Given the description of an element on the screen output the (x, y) to click on. 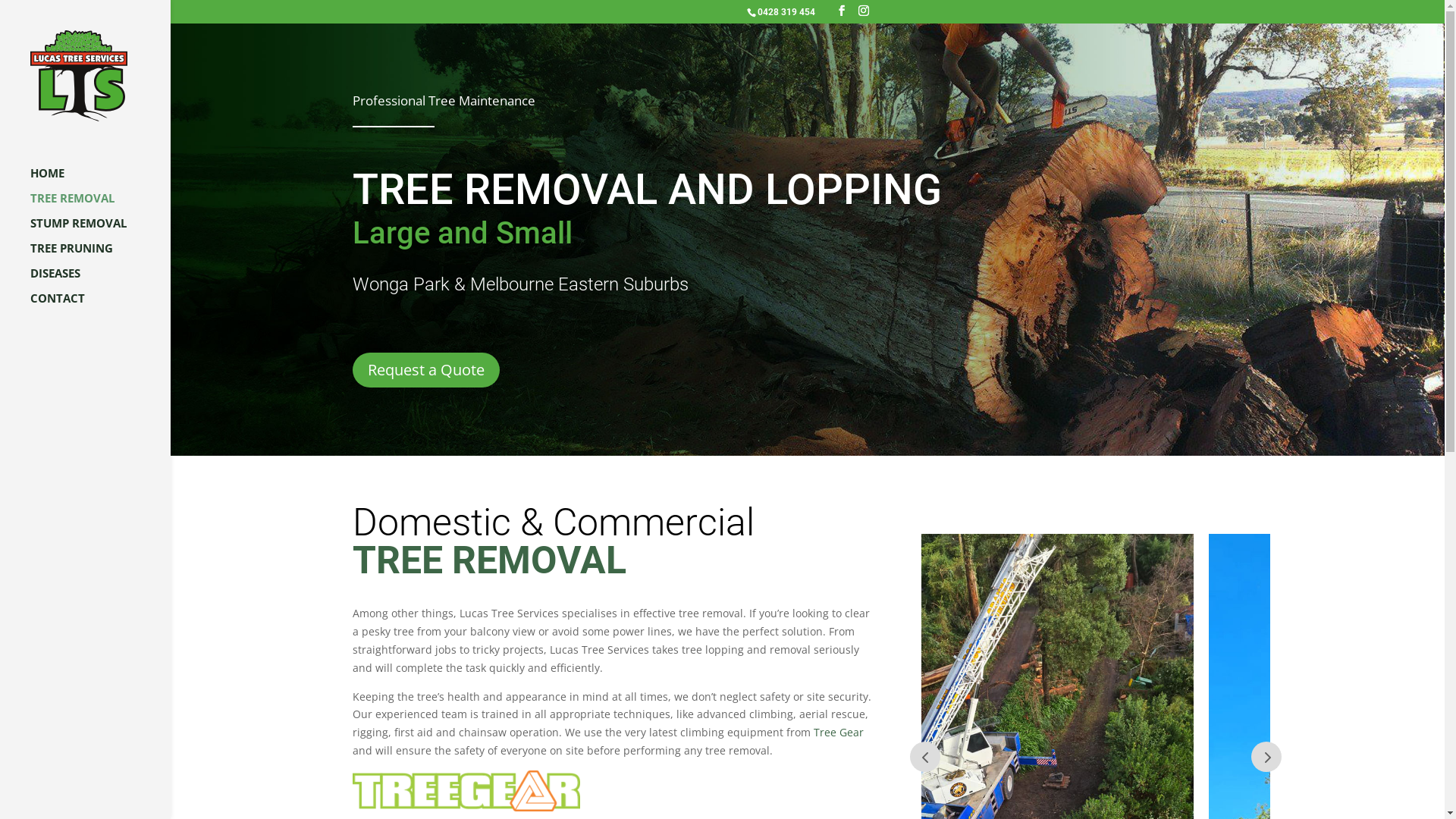
0428 319 454 Element type: text (785, 11)
STUMP REMOVAL Element type: text (100, 229)
Prev Element type: text (1266, 756)
TREE PRUNING Element type: text (100, 254)
CONTACT Element type: text (100, 304)
TREE REMOVAL Element type: text (100, 204)
Request a Quote Element type: text (425, 369)
Tree Gear Element type: text (838, 731)
Prev Element type: text (925, 756)
DISEASES Element type: text (100, 279)
HOME Element type: text (100, 179)
